Given the description of an element on the screen output the (x, y) to click on. 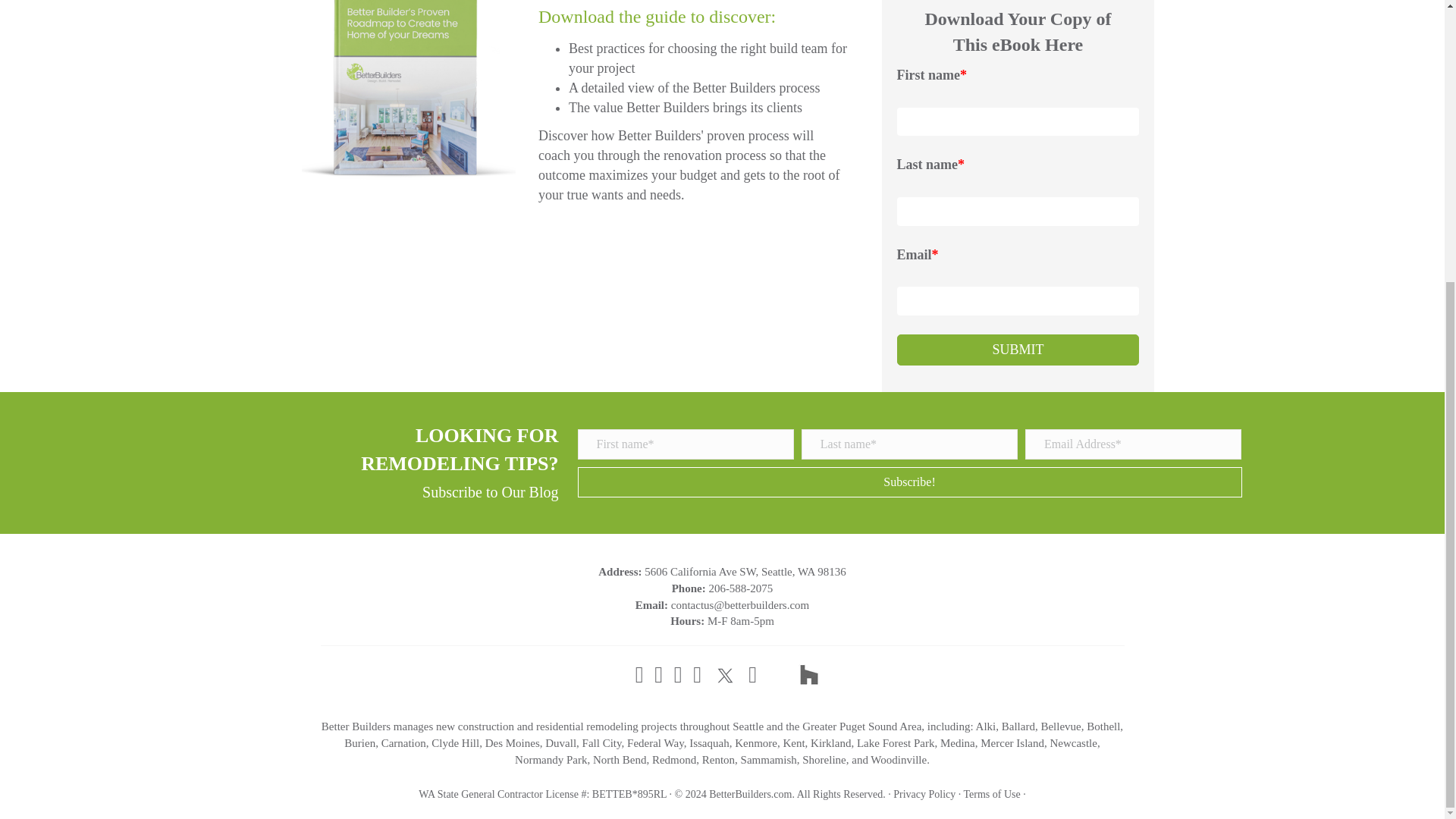
Submit (1017, 350)
Submit (1017, 350)
Subscribe! (909, 481)
Subscribe! (909, 481)
